Given the description of an element on the screen output the (x, y) to click on. 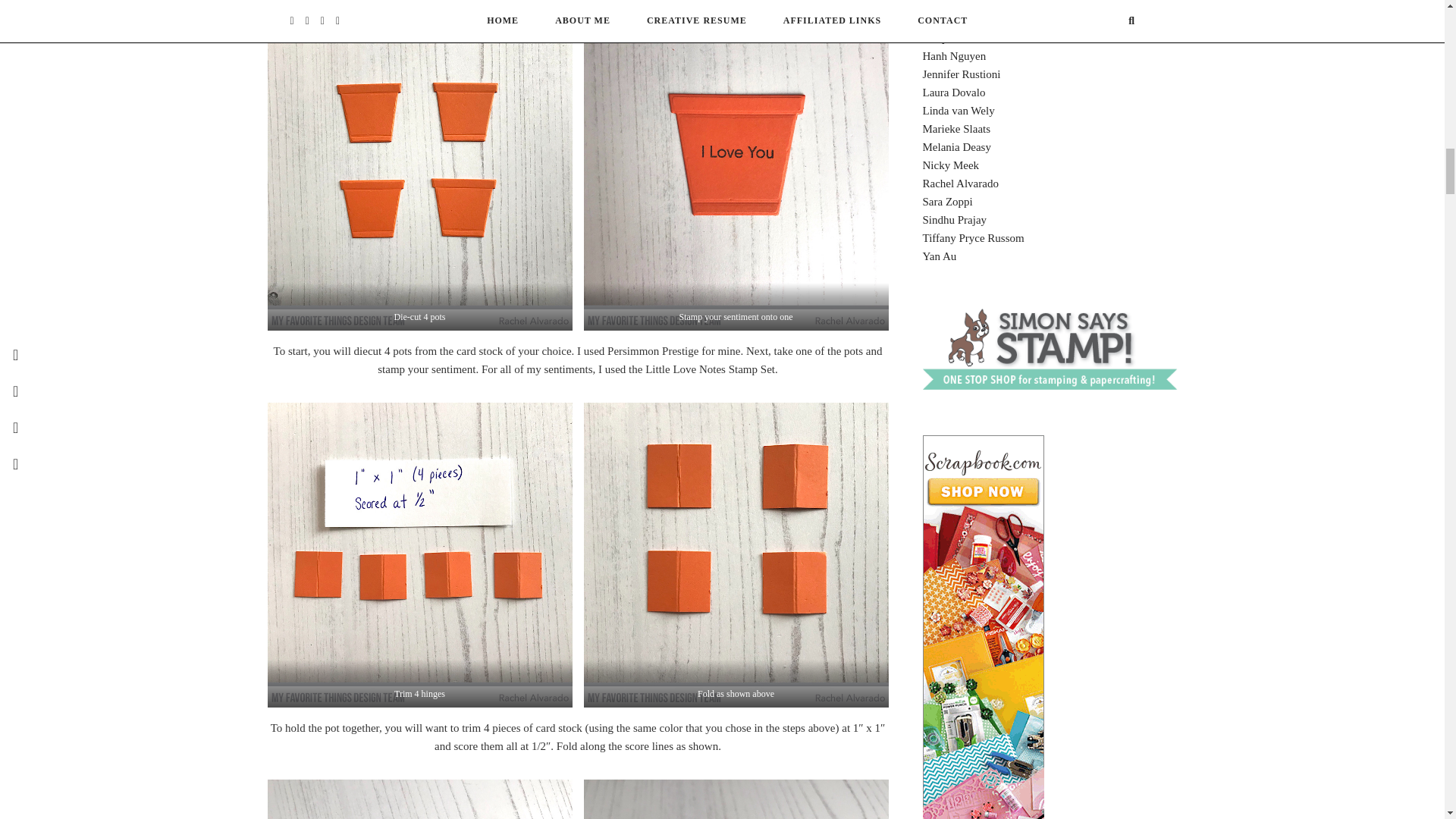
simonsaysstamp (1048, 387)
